Given the description of an element on the screen output the (x, y) to click on. 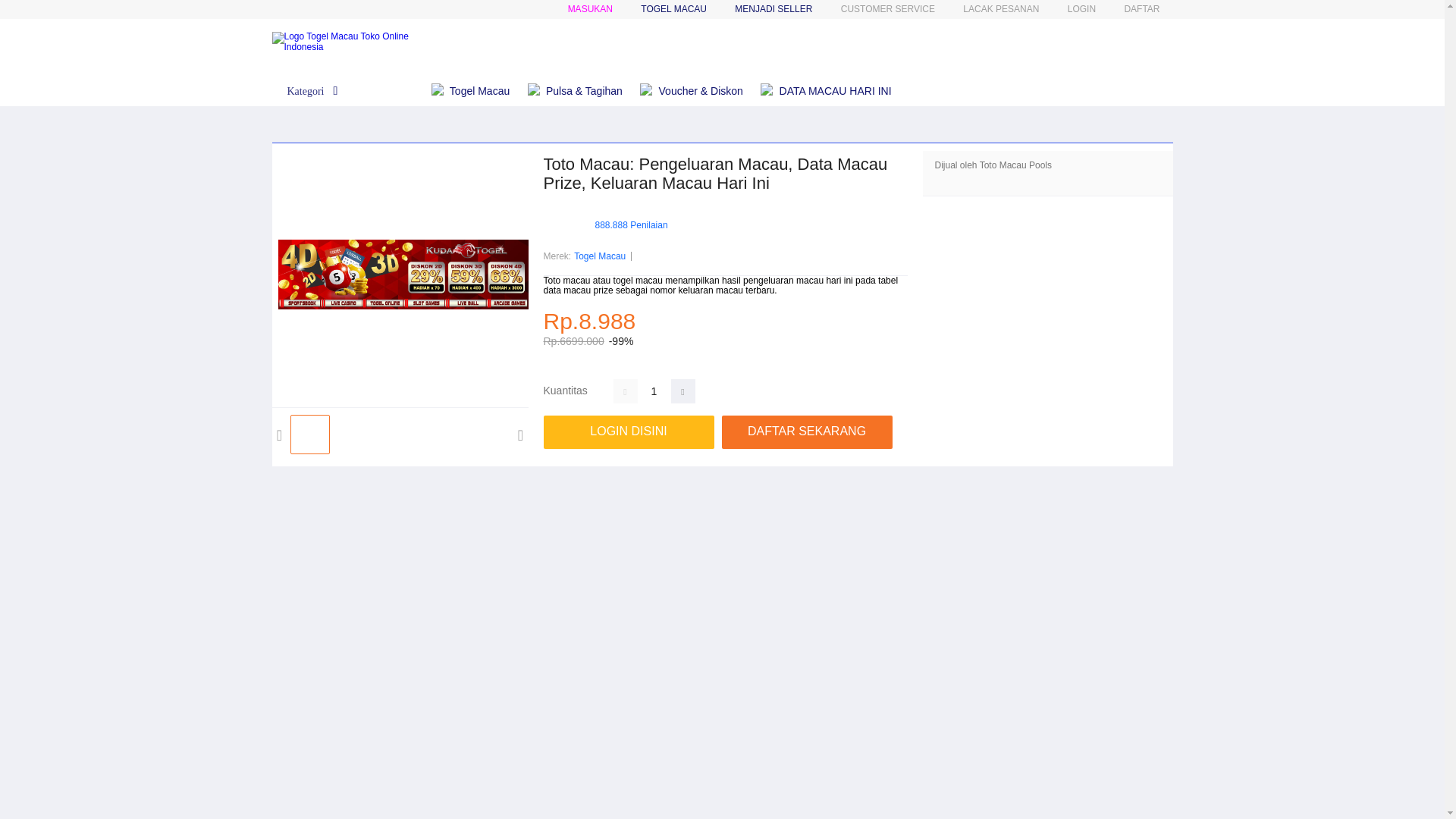
DAFTAR (1141, 9)
MASUKAN (589, 9)
LOGIN (1081, 9)
MENJADI SELLER (773, 9)
1 (653, 391)
